Given the description of an element on the screen output the (x, y) to click on. 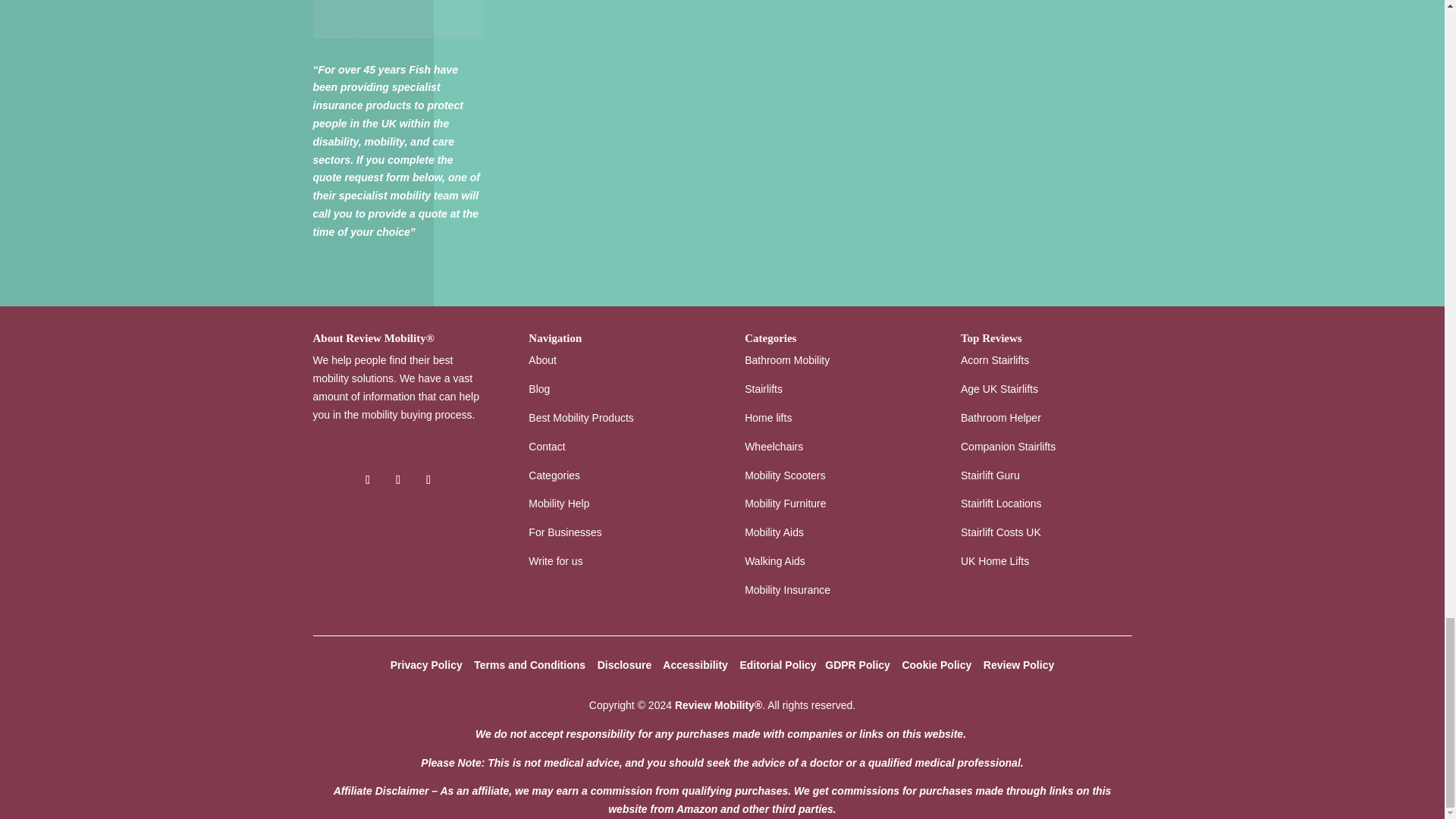
Follow on X (397, 479)
Follow on Instagram (428, 479)
Follow on Facebook (367, 479)
